Given the description of an element on the screen output the (x, y) to click on. 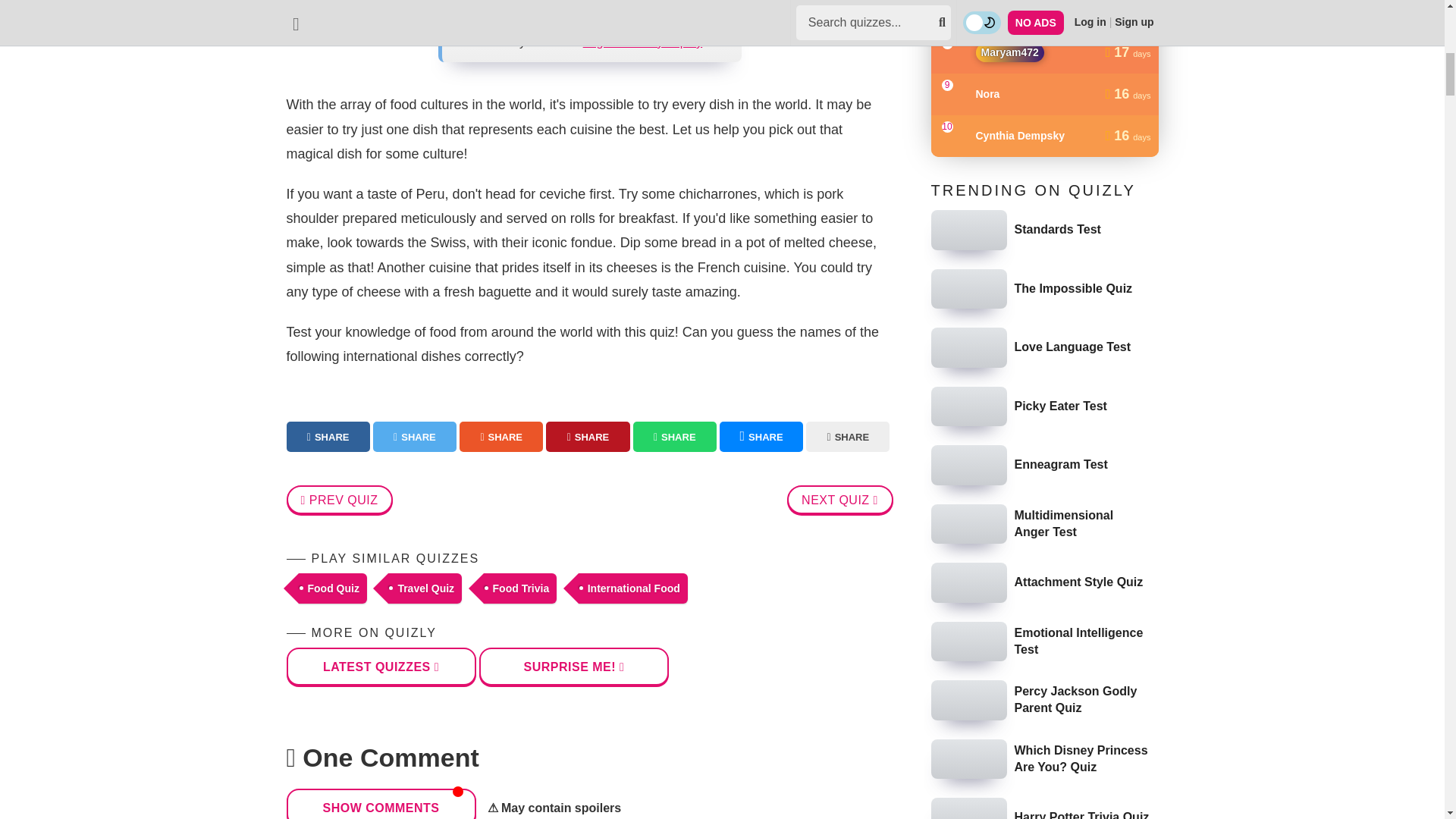
Share this quiz on Twitter (414, 436)
Share this quiz on Facebook (327, 436)
Share this quiz on Reddit (501, 436)
